Given the description of an element on the screen output the (x, y) to click on. 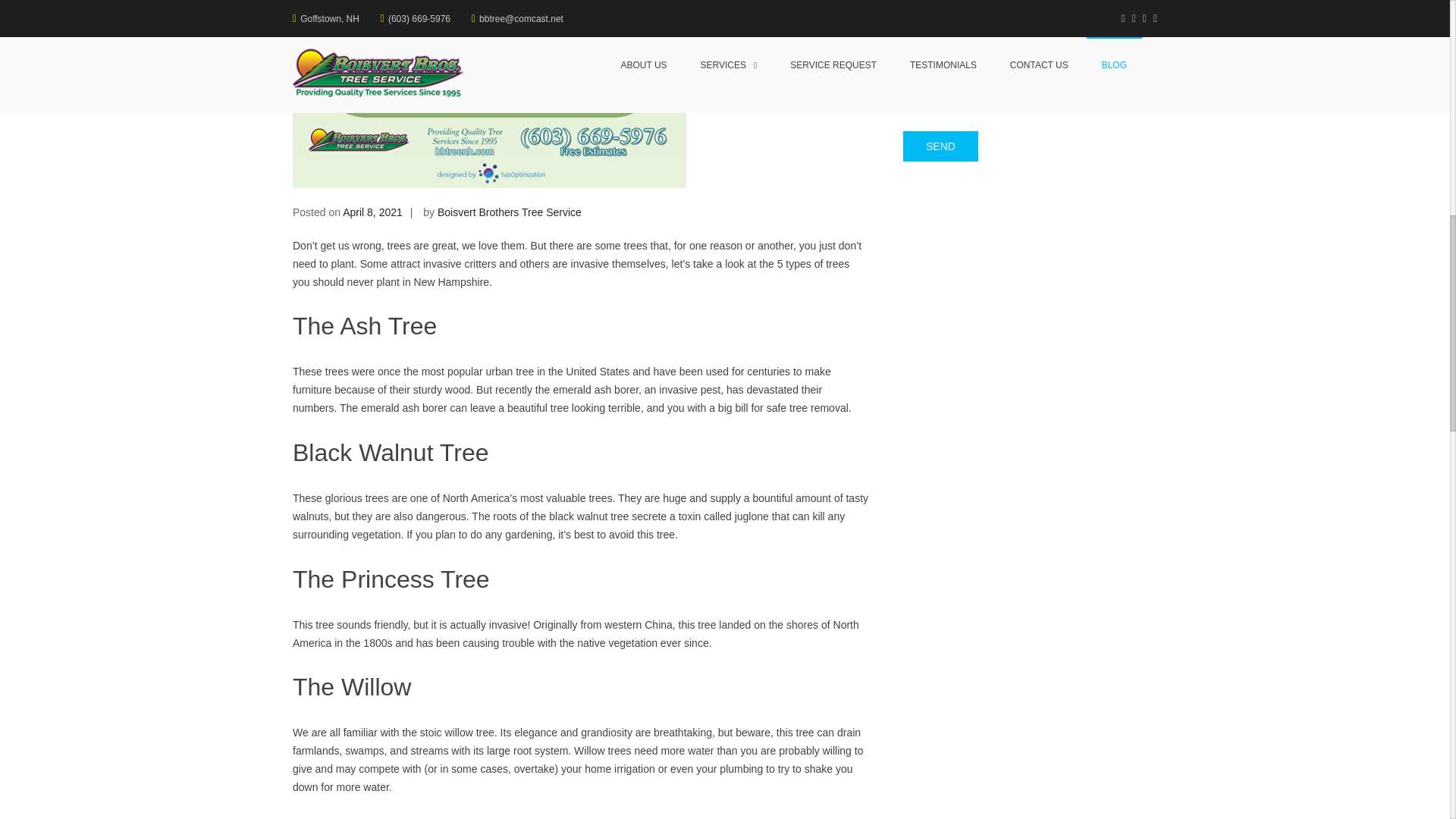
Boisvert Brothers Tree Service (509, 212)
Send (940, 146)
April 8, 2021 (372, 212)
